Given the description of an element on the screen output the (x, y) to click on. 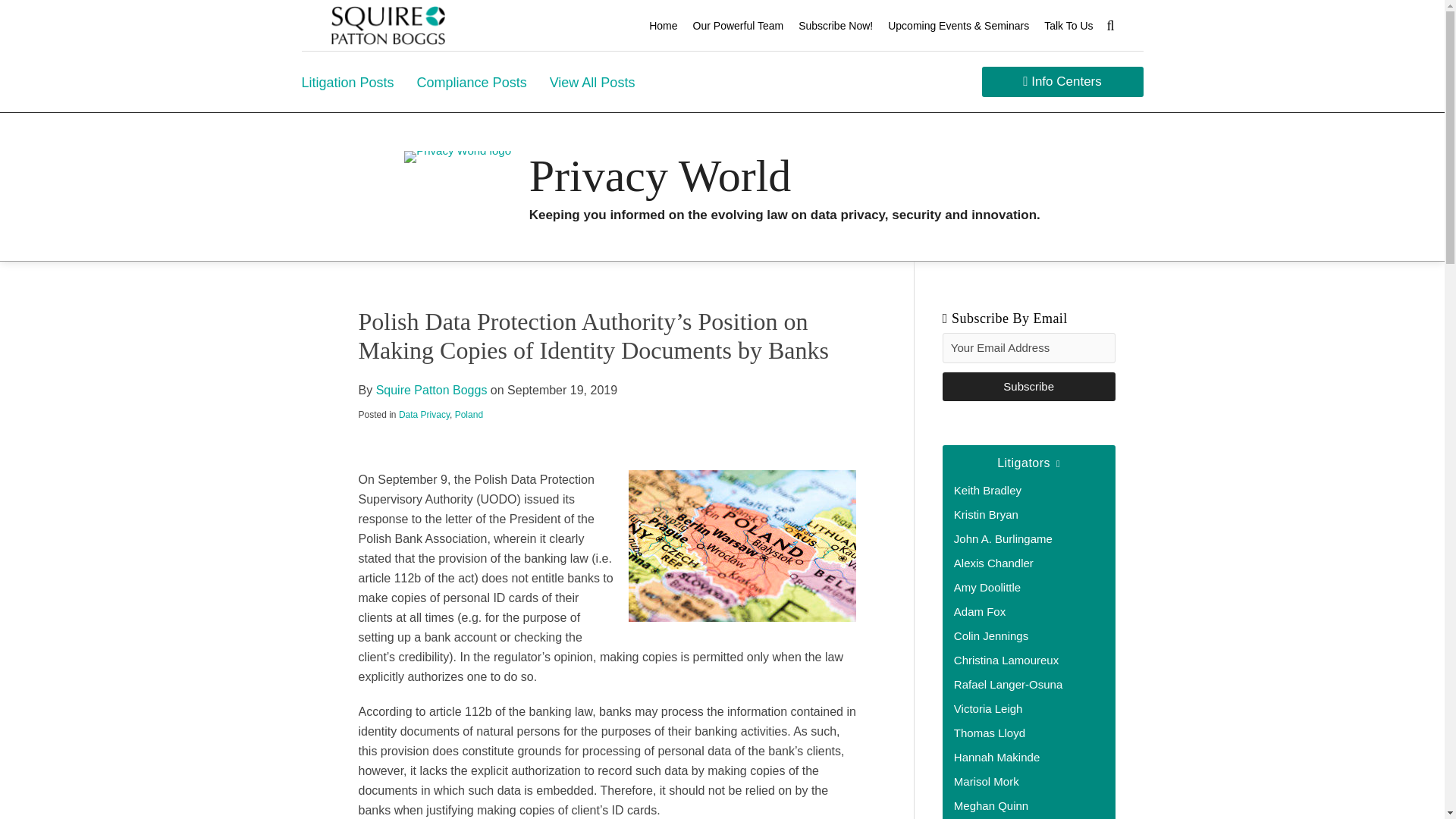
Poland (468, 414)
Our Powerful Team (738, 25)
Subscribe (1028, 386)
Kristin Bryan (985, 513)
Home (663, 25)
Squire Patton Boggs (431, 390)
Subscribe (1028, 386)
Subscribe Now! (834, 25)
Keith Bradley (987, 490)
Privacy World (660, 175)
